Given the description of an element on the screen output the (x, y) to click on. 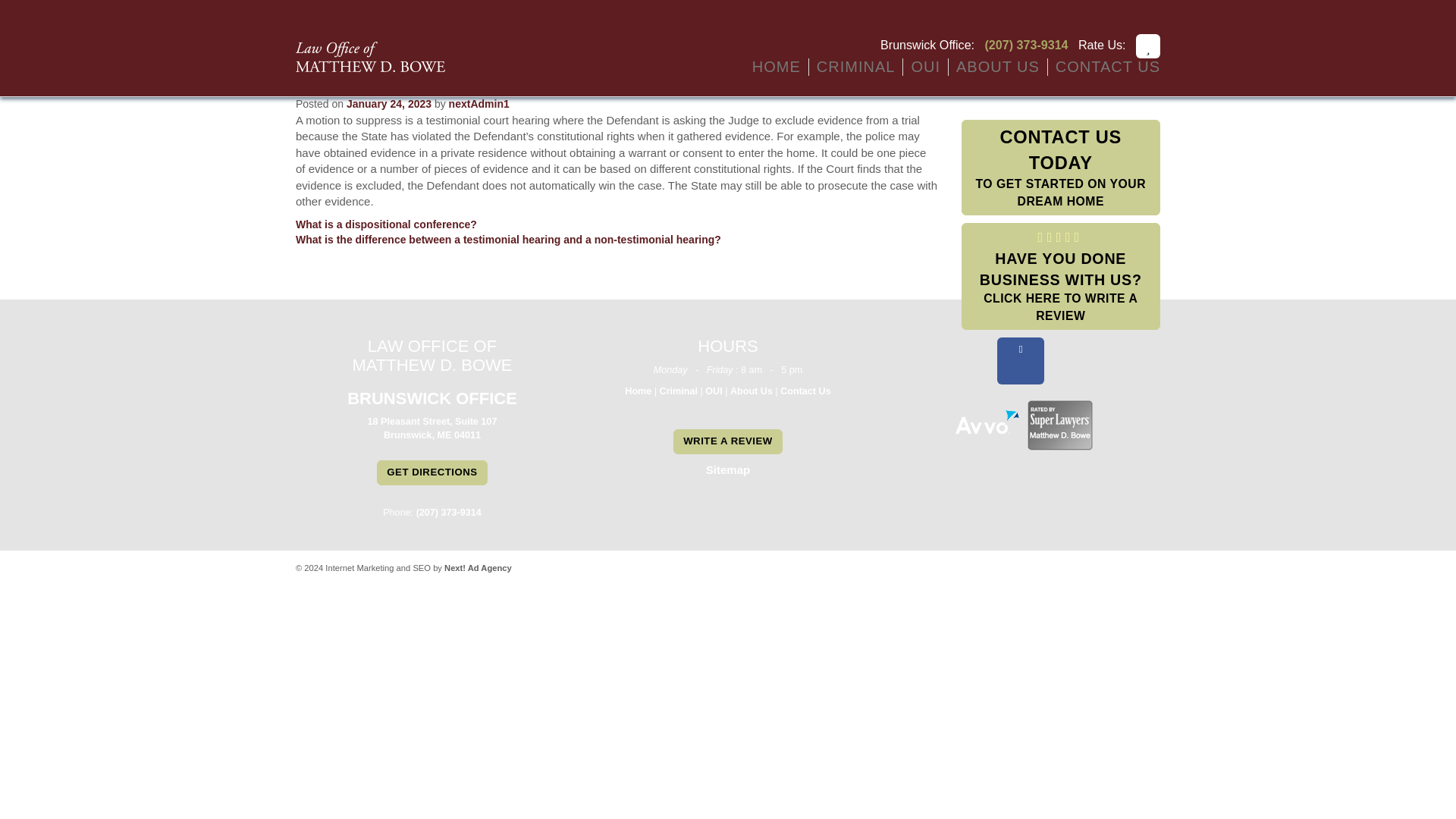
Next! Ad Agency (478, 567)
About Us (997, 67)
BRUNSWICK OFFICE (431, 398)
CONTACT US (1107, 67)
Sitemap (727, 469)
CRIMINAL (1060, 167)
Home (855, 67)
OUI (637, 389)
About Us (713, 389)
Contact Us (751, 389)
Criminal (804, 389)
HOME (855, 67)
Home (776, 67)
ABOUT US (776, 67)
